Given the description of an element on the screen output the (x, y) to click on. 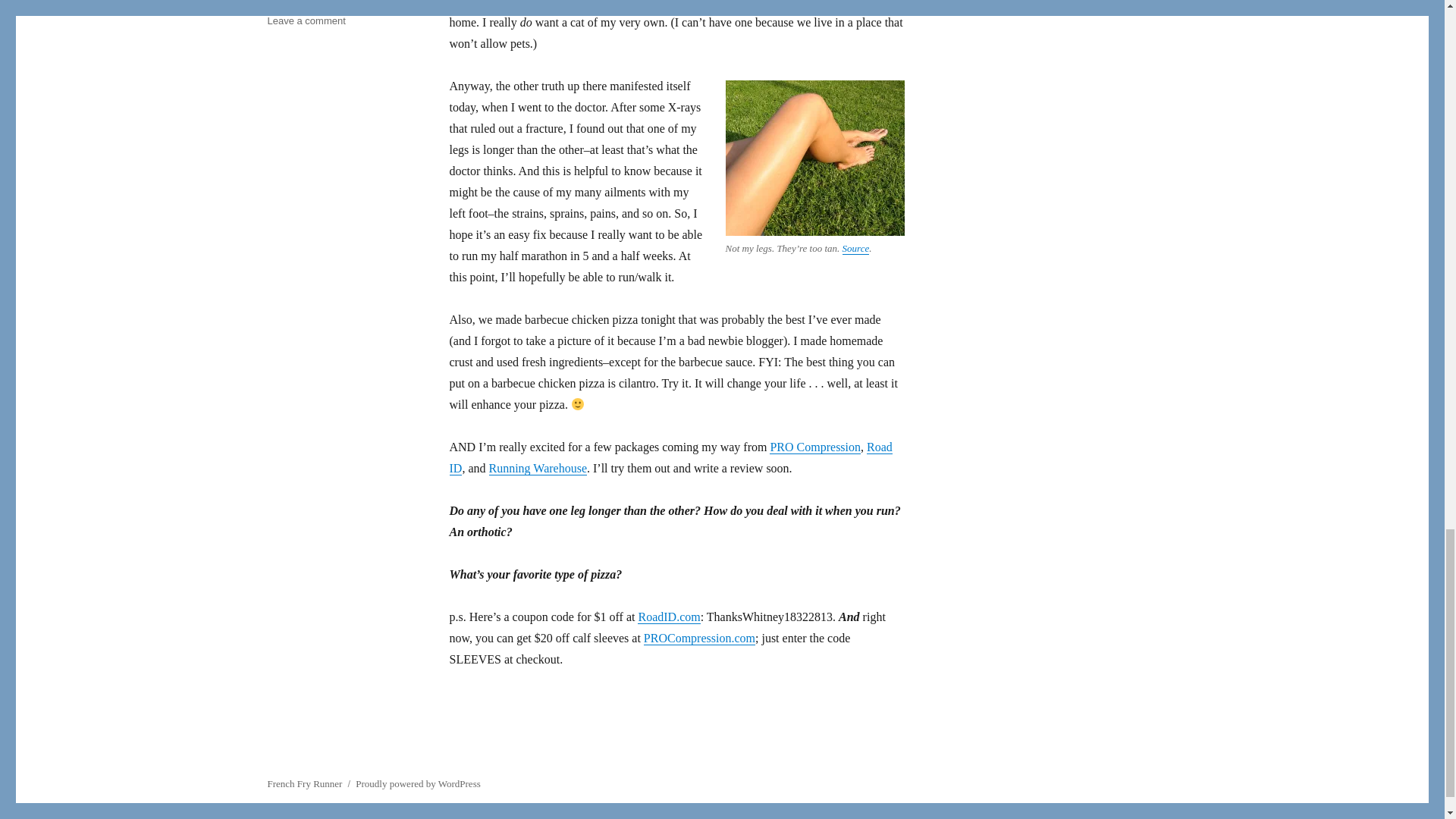
Road ID (669, 457)
Source (856, 247)
PRO Compression (815, 446)
